Given the description of an element on the screen output the (x, y) to click on. 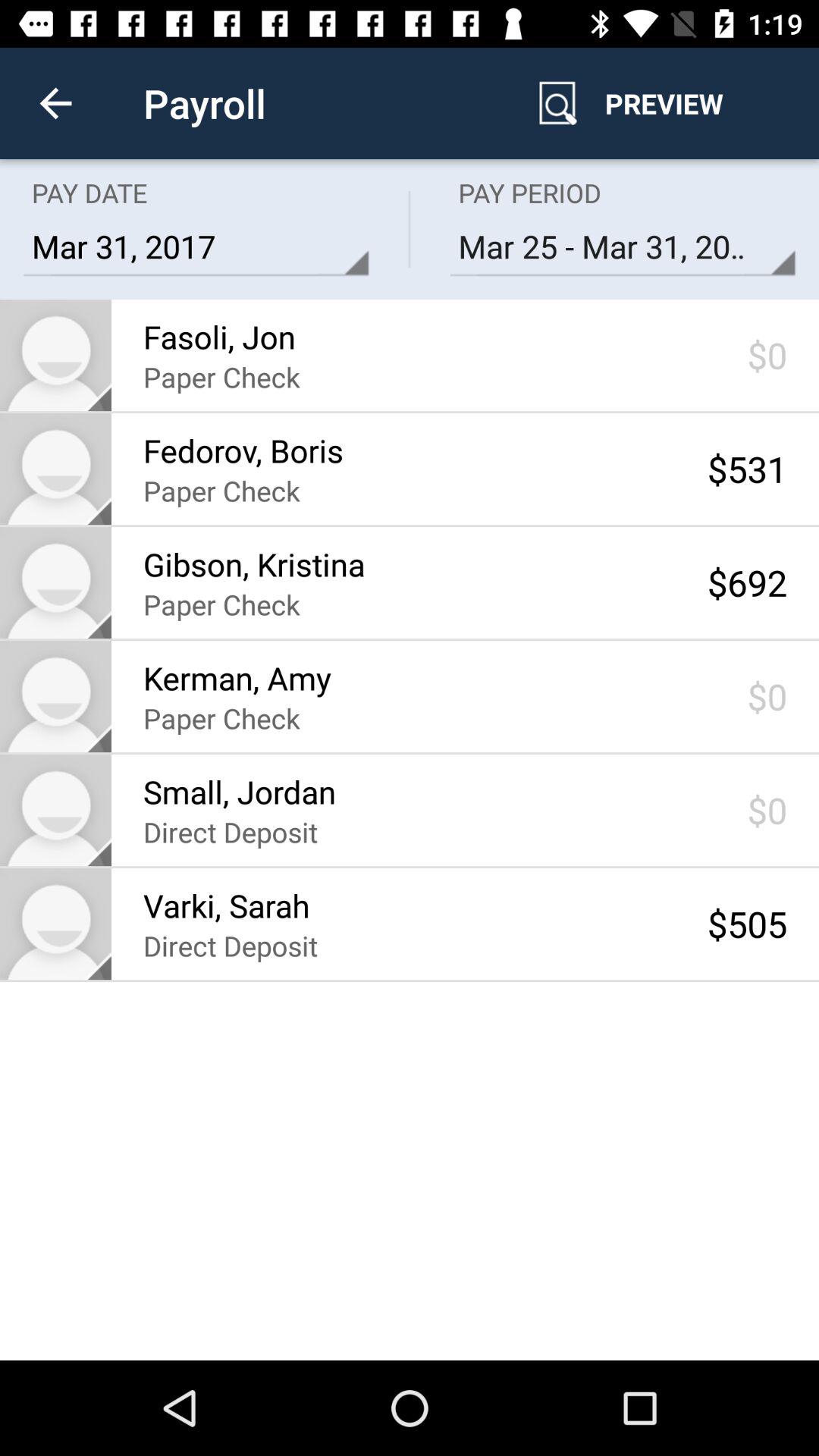
a persons icon (55, 468)
